Given the description of an element on the screen output the (x, y) to click on. 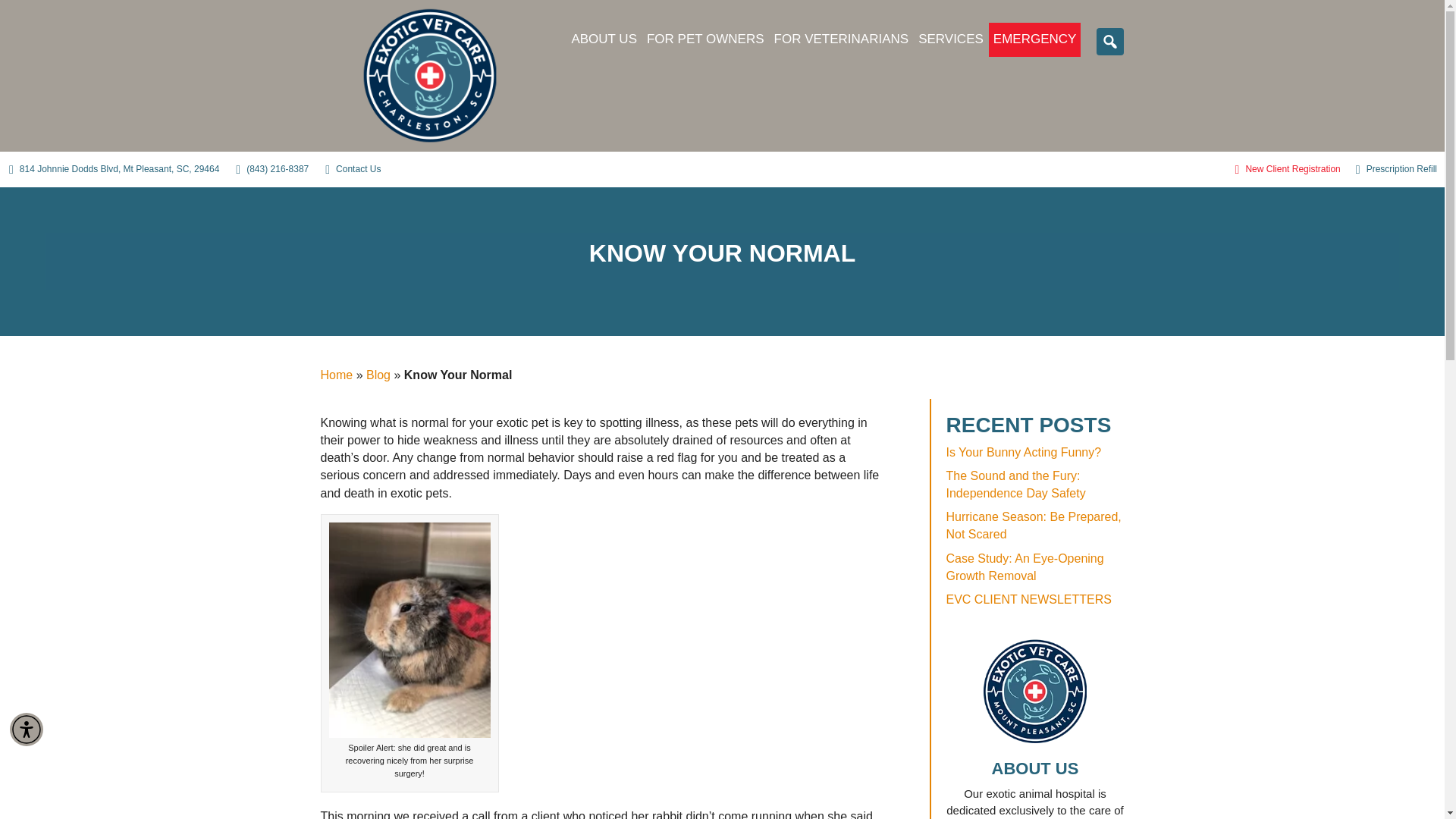
SERVICES (951, 39)
FOR PET OWNERS (705, 39)
Exotic Vet Care Charleston (429, 75)
Accessibility Menu (26, 729)
FOR VETERINARIANS (842, 39)
ABOUT US (604, 39)
Exotic Vet Care Circle (1034, 691)
